Given the description of an element on the screen output the (x, y) to click on. 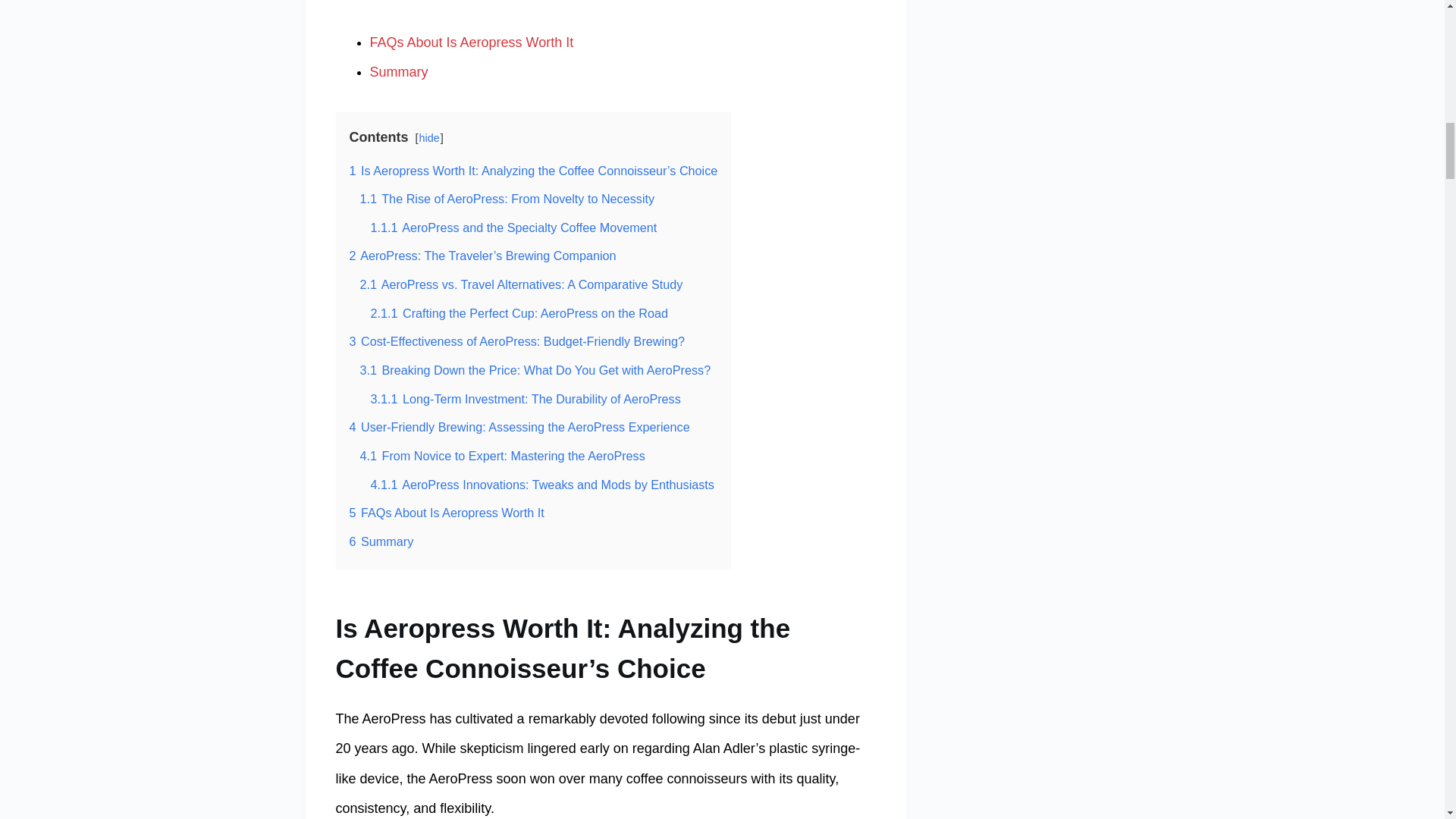
FAQs About Is Aeropress Worth It (471, 42)
hide (429, 137)
Summary (398, 71)
